Given the description of an element on the screen output the (x, y) to click on. 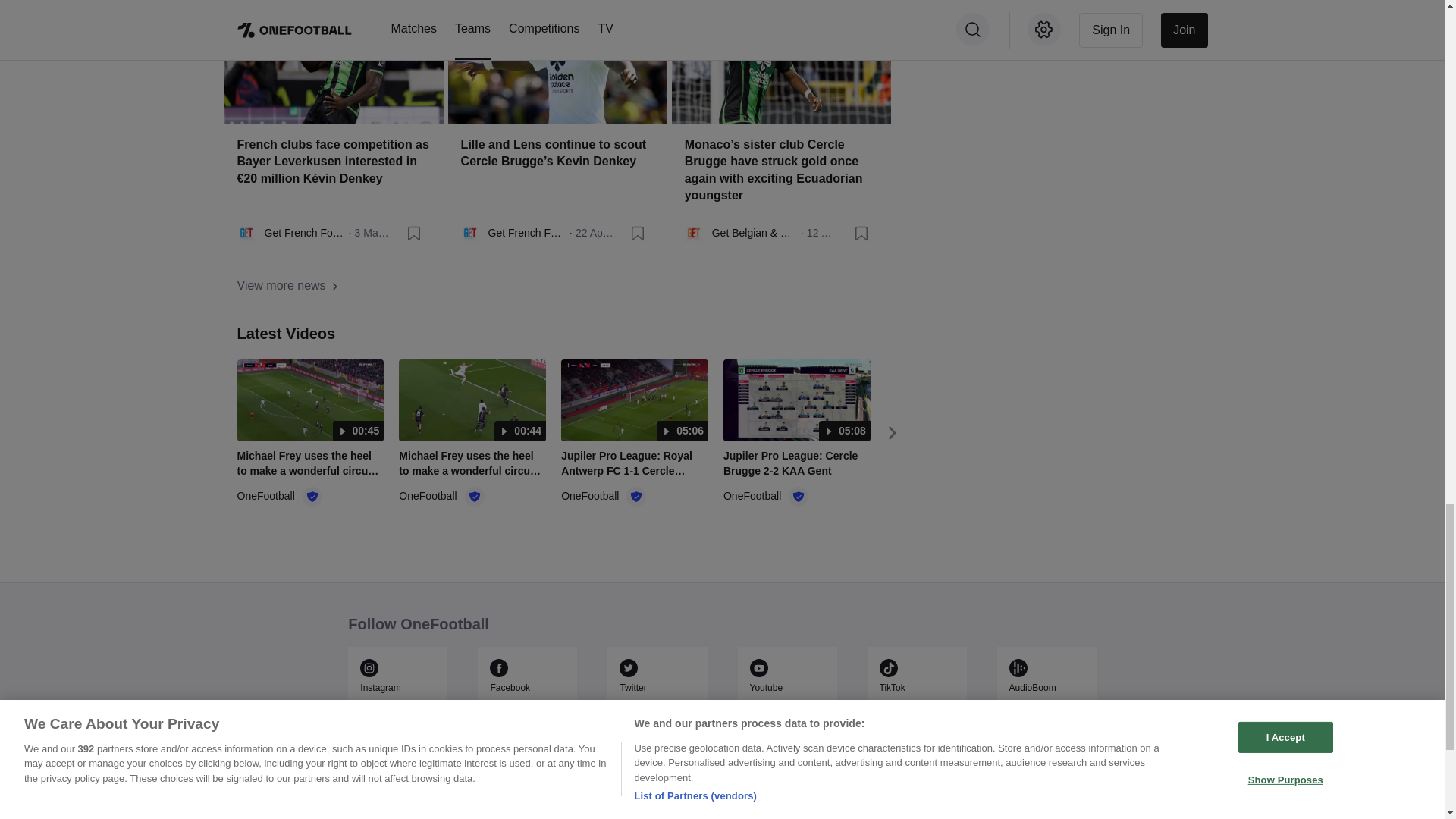
Twitter (657, 687)
TikTok (917, 687)
Facebook (526, 687)
Instagram (397, 687)
Youtube (786, 687)
